Given the description of an element on the screen output the (x, y) to click on. 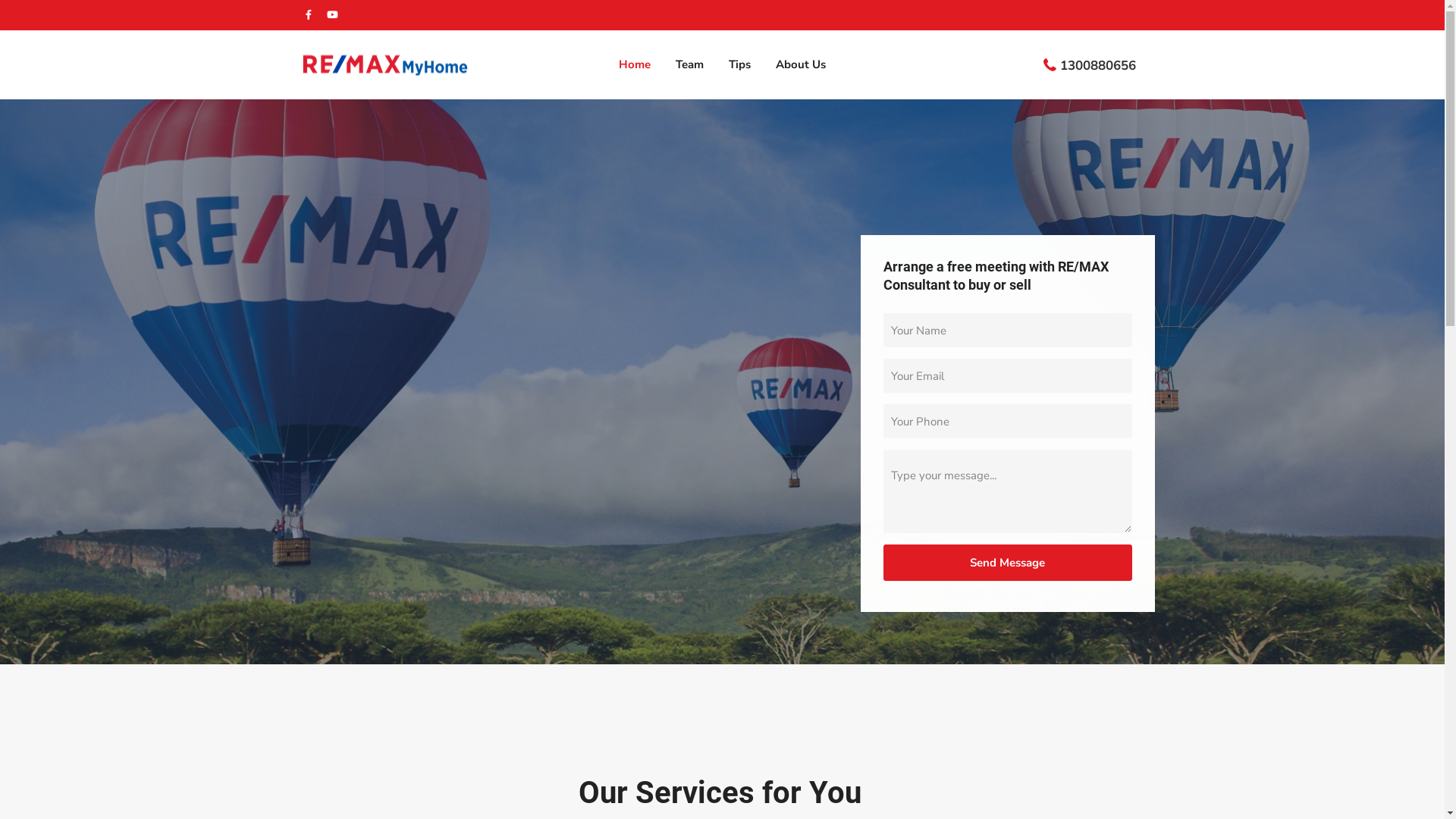
About Us Element type: text (800, 64)
Send Message Element type: text (1007, 562)
1300880656 Element type: text (1097, 65)
Home Element type: text (634, 64)
Team Element type: text (689, 64)
Tips Element type: text (739, 64)
